Given the description of an element on the screen output the (x, y) to click on. 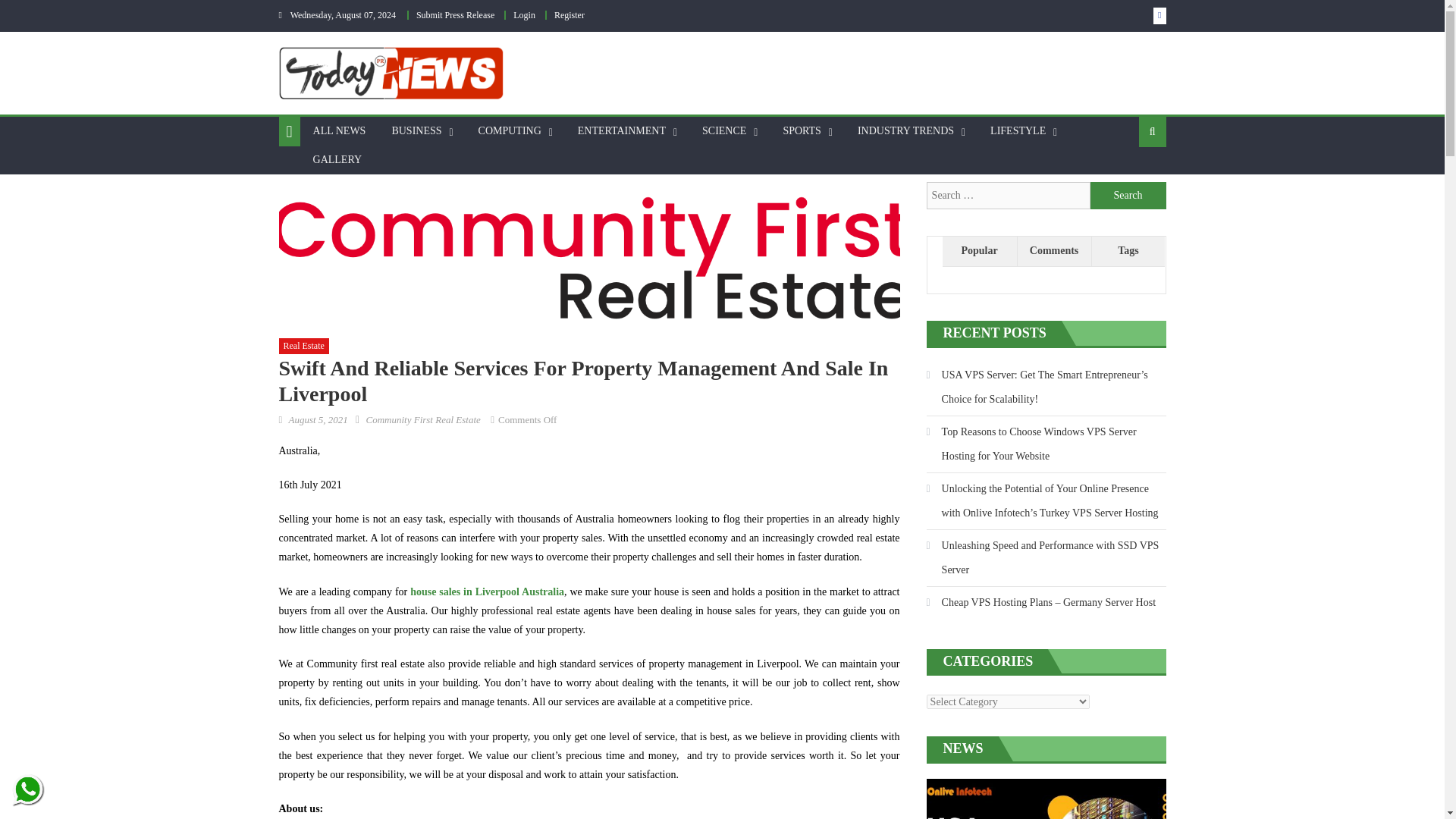
Search (1128, 195)
SPORTS (801, 131)
Search (1128, 195)
COMPUTING (510, 131)
Register (569, 14)
Submit Press Release (455, 14)
ALL NEWS (339, 131)
INDUSTRY TRENDS (905, 131)
ENTERTAINMENT (621, 131)
BUSINESS (416, 131)
Login (524, 14)
SCIENCE (723, 131)
